Given the description of an element on the screen output the (x, y) to click on. 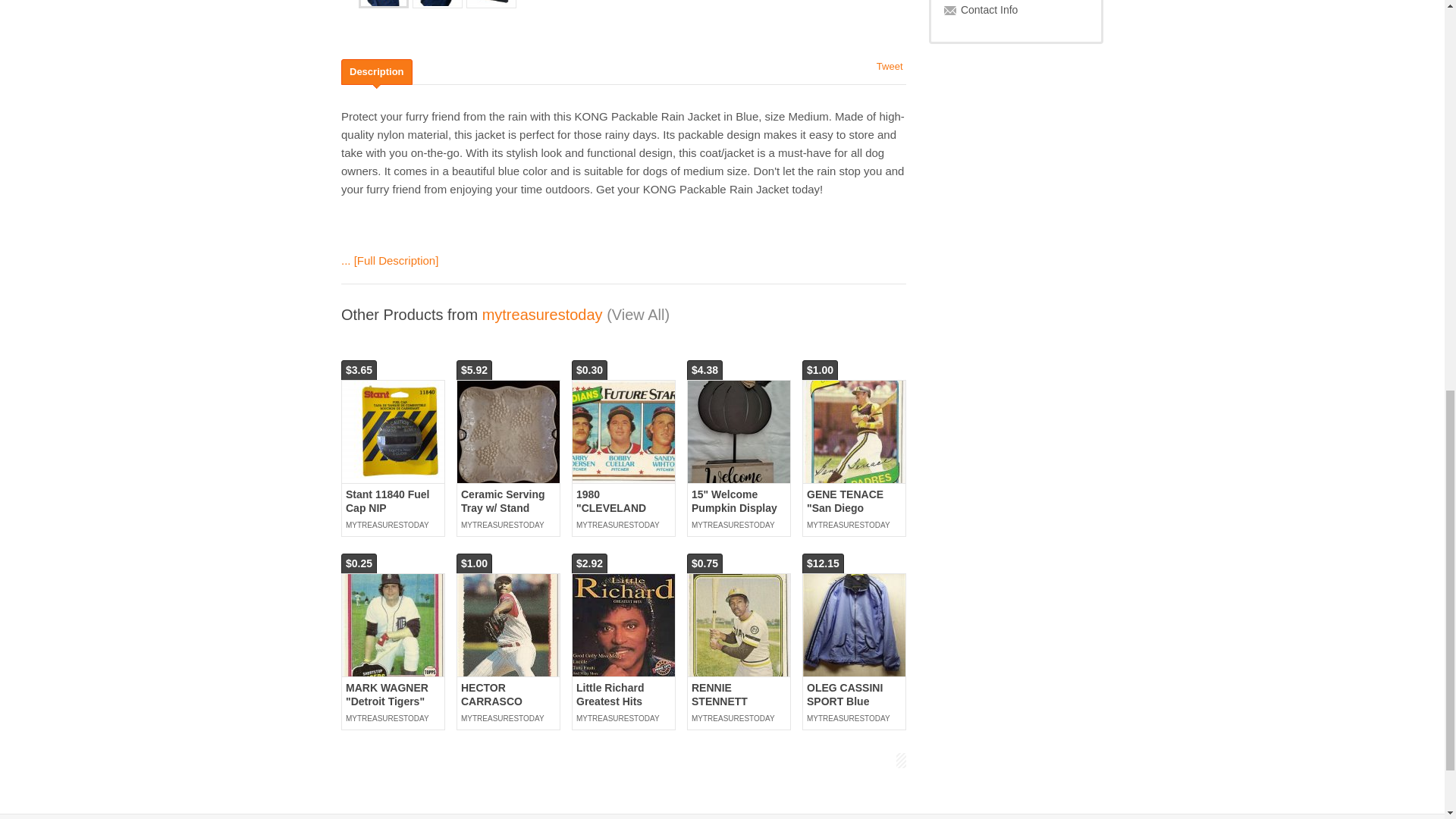
15" Welcome Pumpkin Display Decoration (734, 507)
15" Welcome Pumpkin Display Decoration (738, 431)
Stant 11840 Fuel Cap NIP (387, 501)
Stant 11840 Fuel Cap NIP (393, 431)
